Given the description of an element on the screen output the (x, y) to click on. 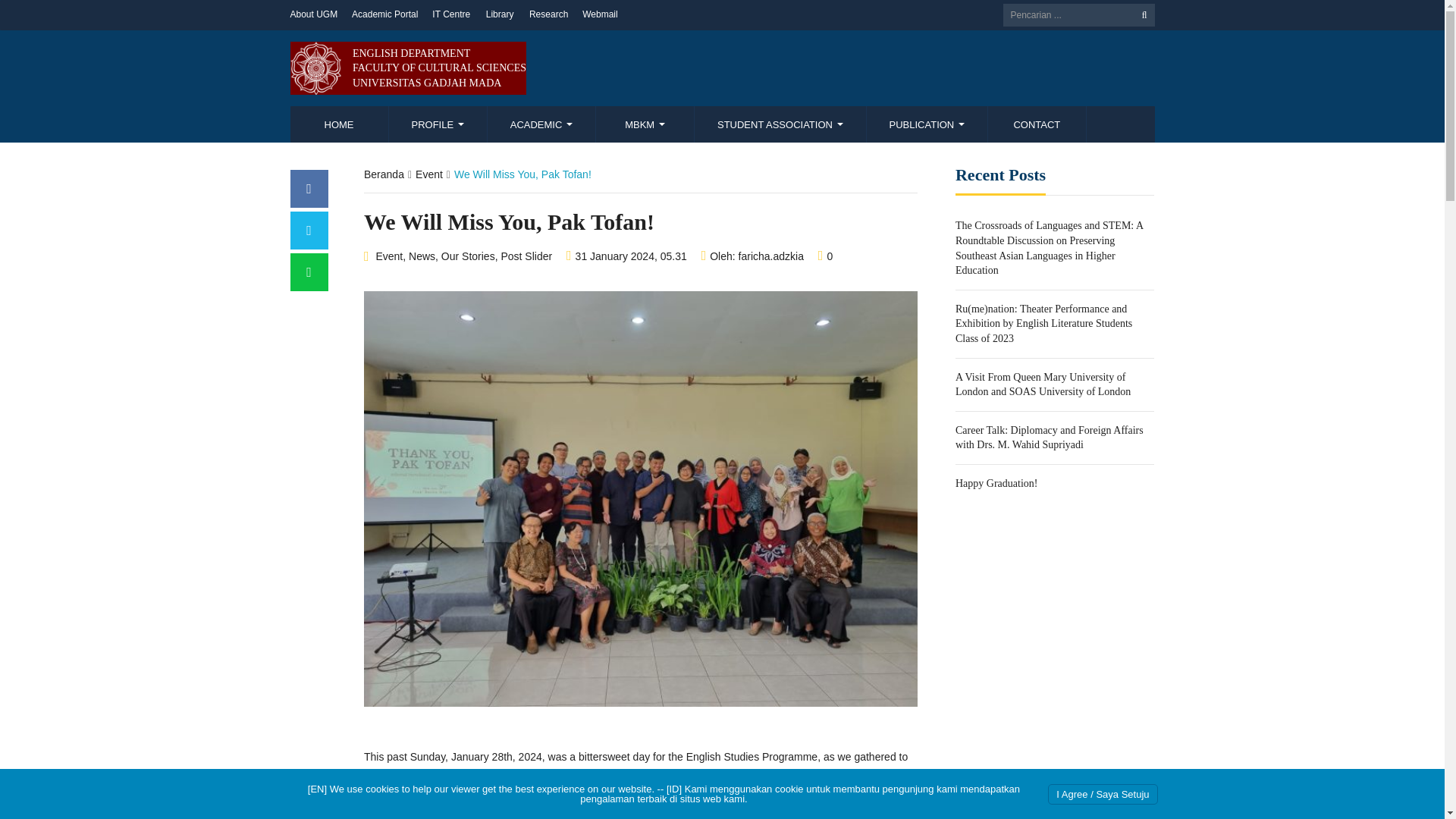
home (338, 124)
Webmail (599, 15)
MBKM (644, 124)
IT Centre (451, 15)
PROFILE (437, 124)
Library (499, 15)
STUDENT ASSOCIATION (780, 124)
MBKM (644, 124)
About UGM (313, 15)
